Given the description of an element on the screen output the (x, y) to click on. 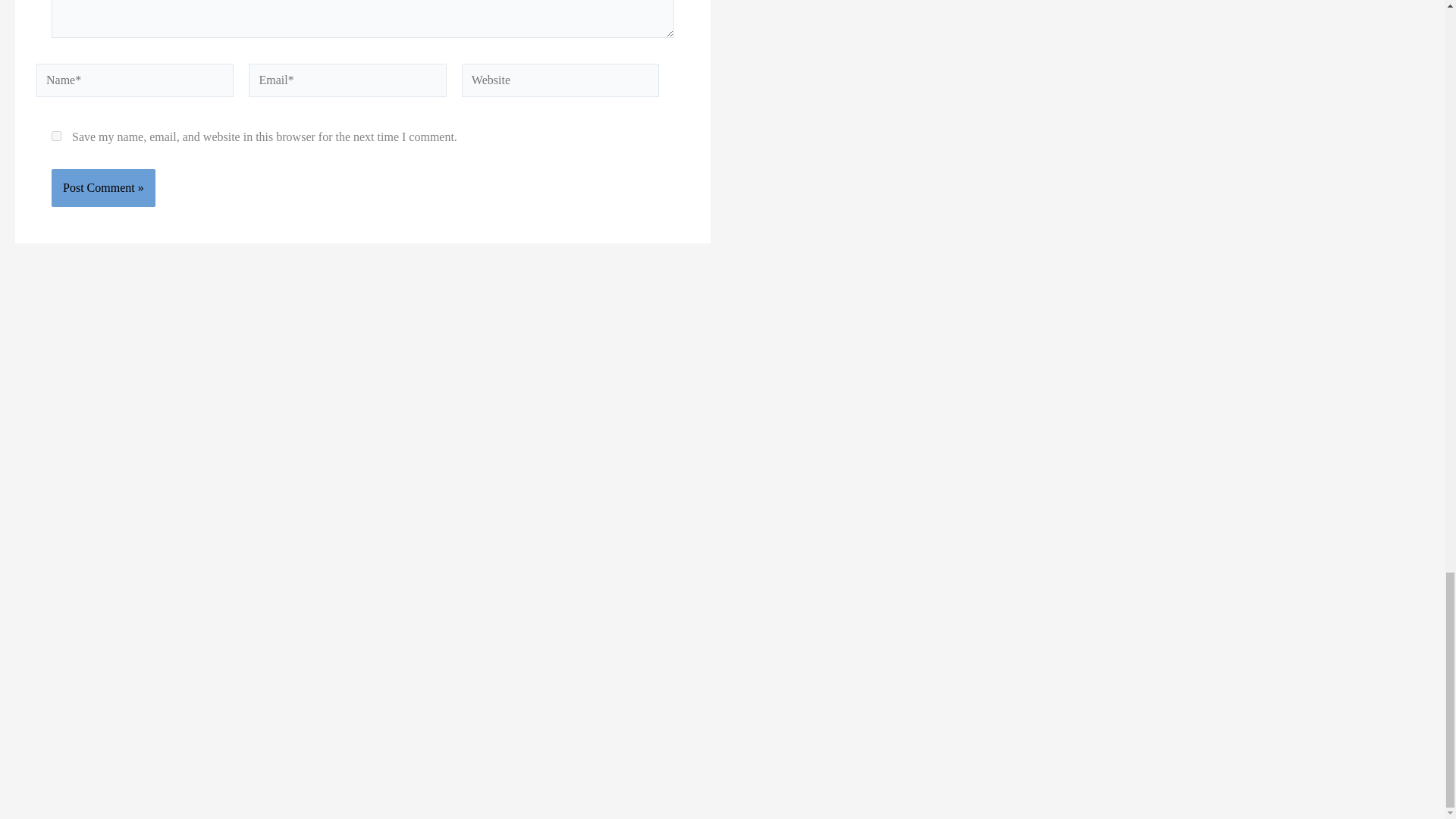
yes (55, 135)
